Given the description of an element on the screen output the (x, y) to click on. 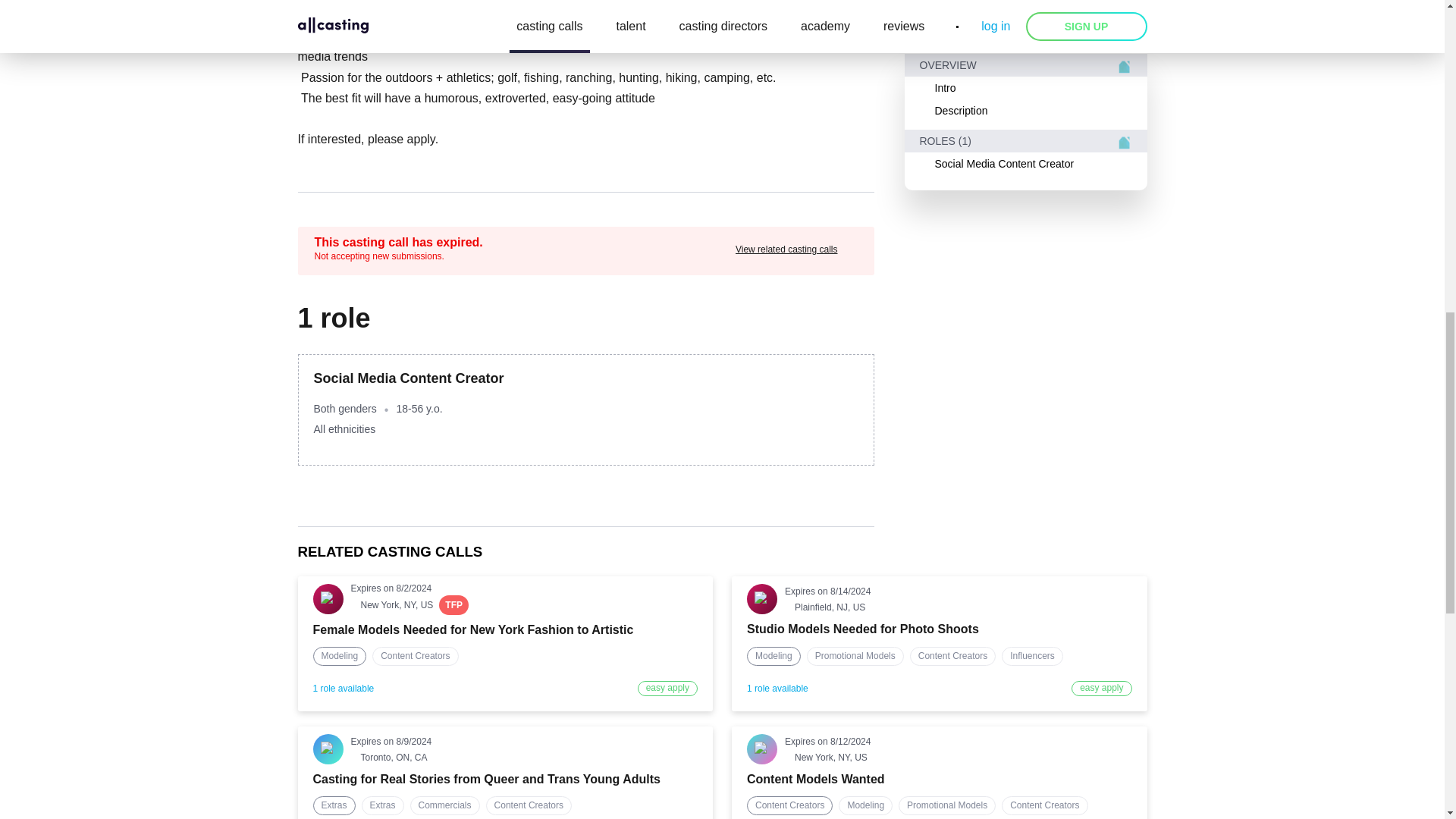
View related casting calls (796, 249)
